Given the description of an element on the screen output the (x, y) to click on. 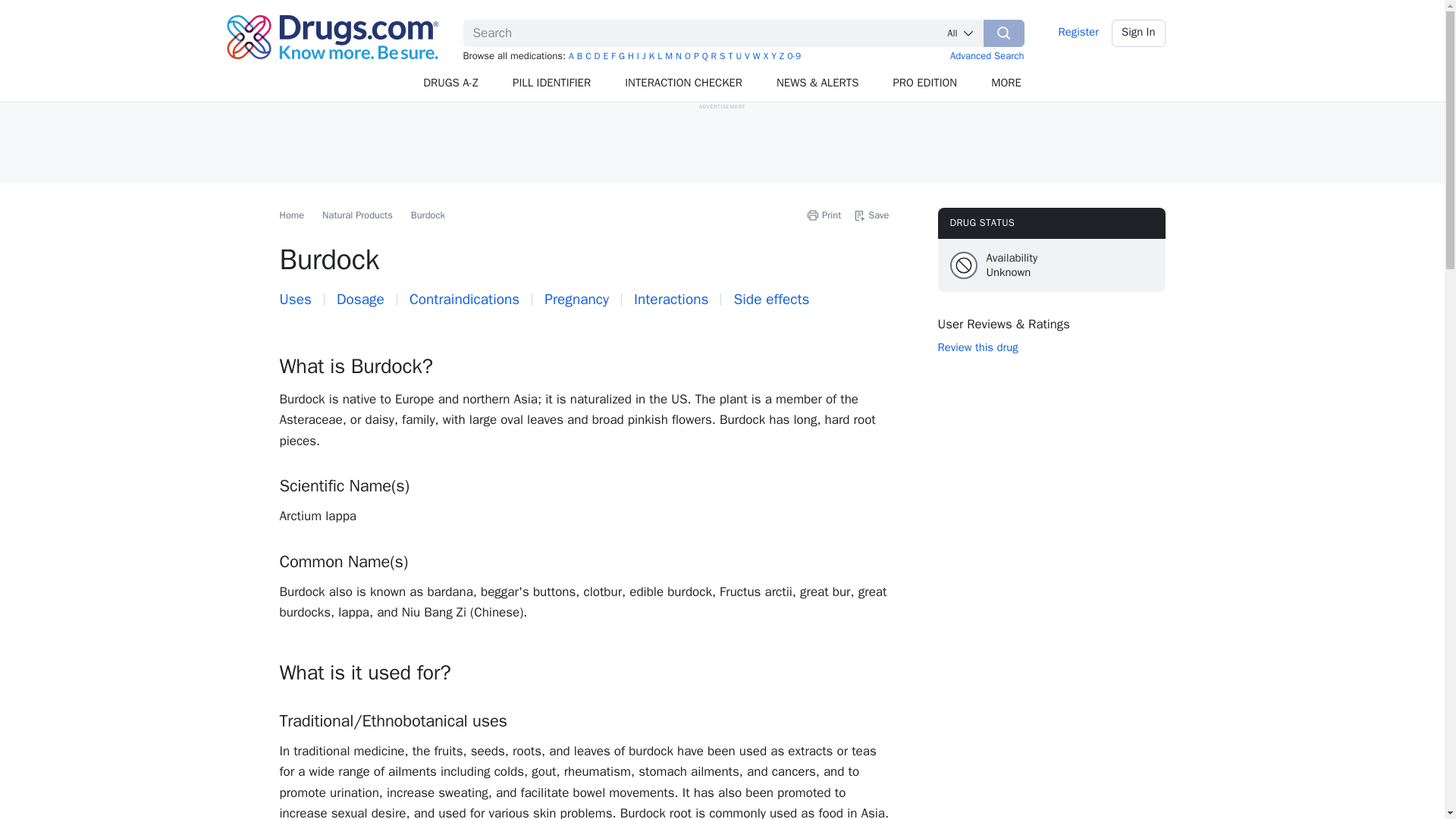
P (696, 55)
H (630, 55)
Q (704, 55)
DRUGS A-Z (450, 83)
F (613, 55)
Register (1078, 32)
D (596, 55)
Advanced Search (987, 55)
K (651, 55)
N (678, 55)
Search (1004, 32)
O (687, 55)
Z (781, 55)
J (644, 55)
